Given the description of an element on the screen output the (x, y) to click on. 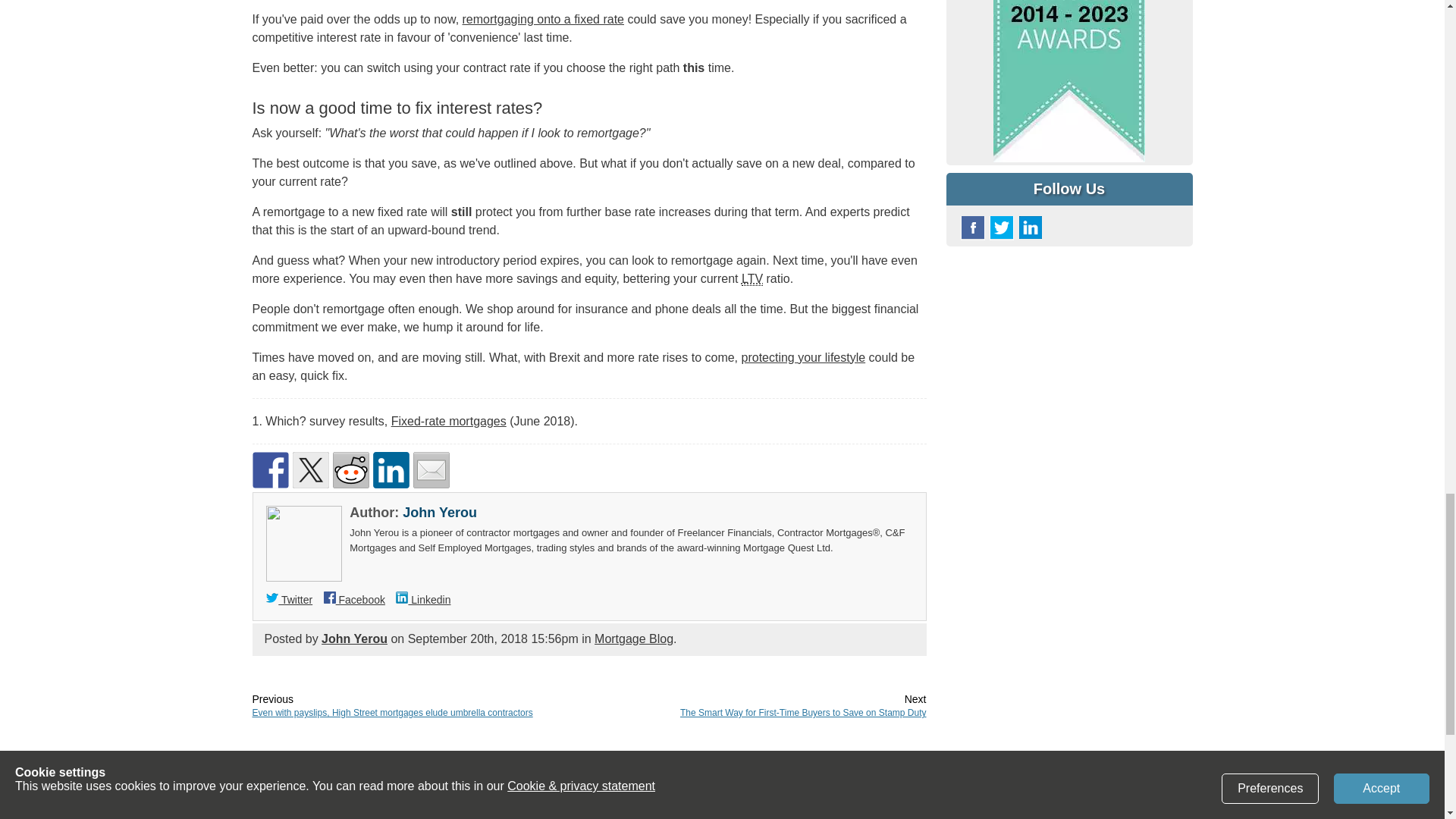
Loan-to-Value (751, 278)
Mortgage Blog (633, 638)
John Yerou (440, 512)
John Yerou (354, 638)
Share on Twitter (310, 470)
remortgaging onto a fixed rate (543, 19)
The Smart Way for First-Time Buyers to Save on Stamp Duty (802, 712)
Linkedin (422, 599)
Share on Reddit (349, 470)
Fixed-rate mortgages (448, 420)
Share on Facebook (269, 470)
protecting your lifestyle (803, 357)
Facebook (354, 599)
Twitter (289, 599)
